Given the description of an element on the screen output the (x, y) to click on. 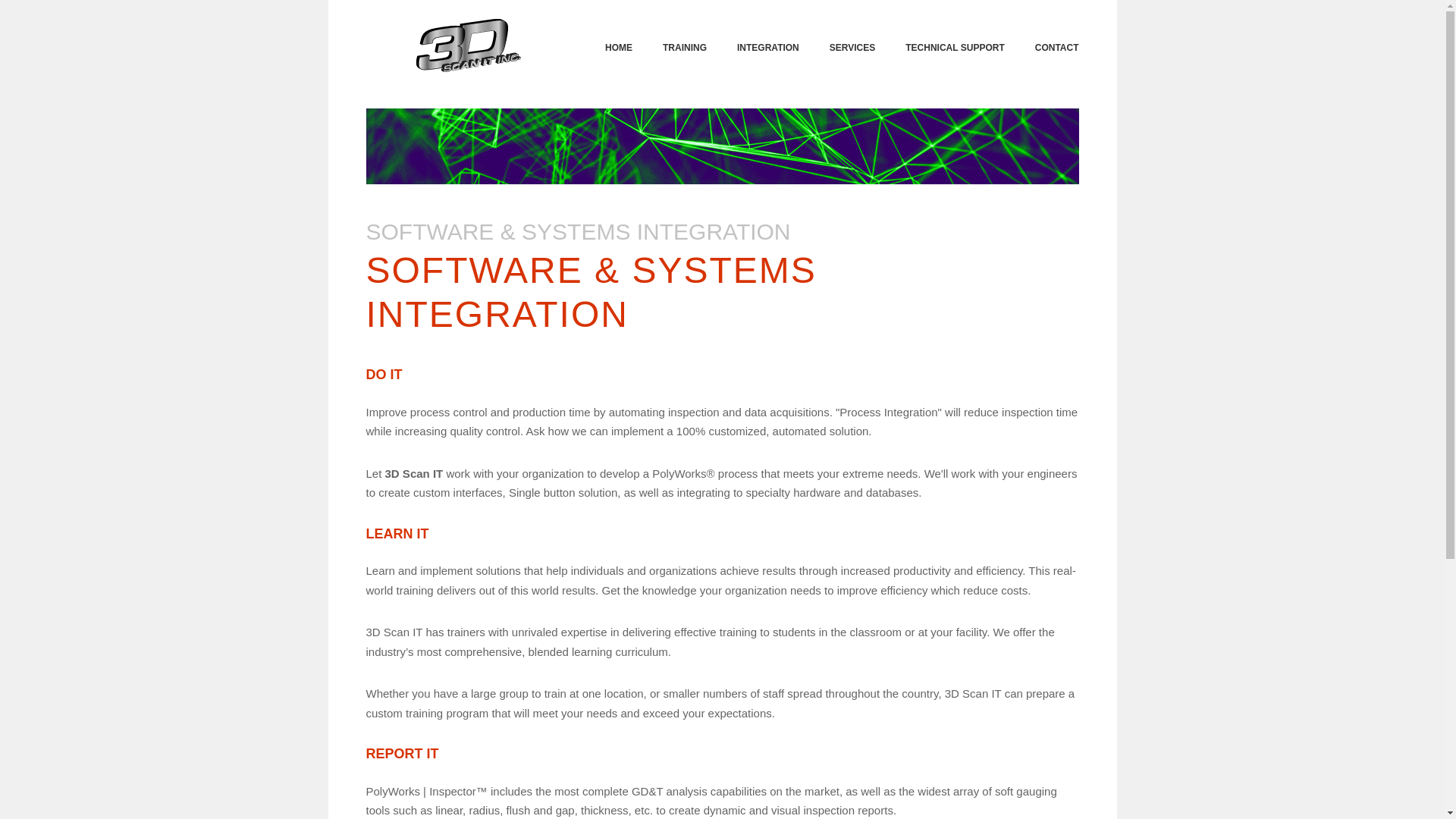
HOME Element type: text (618, 39)
TECHNICAL SUPPORT Element type: text (954, 39)
CONTACT Element type: text (1057, 39)
